Given the description of an element on the screen output the (x, y) to click on. 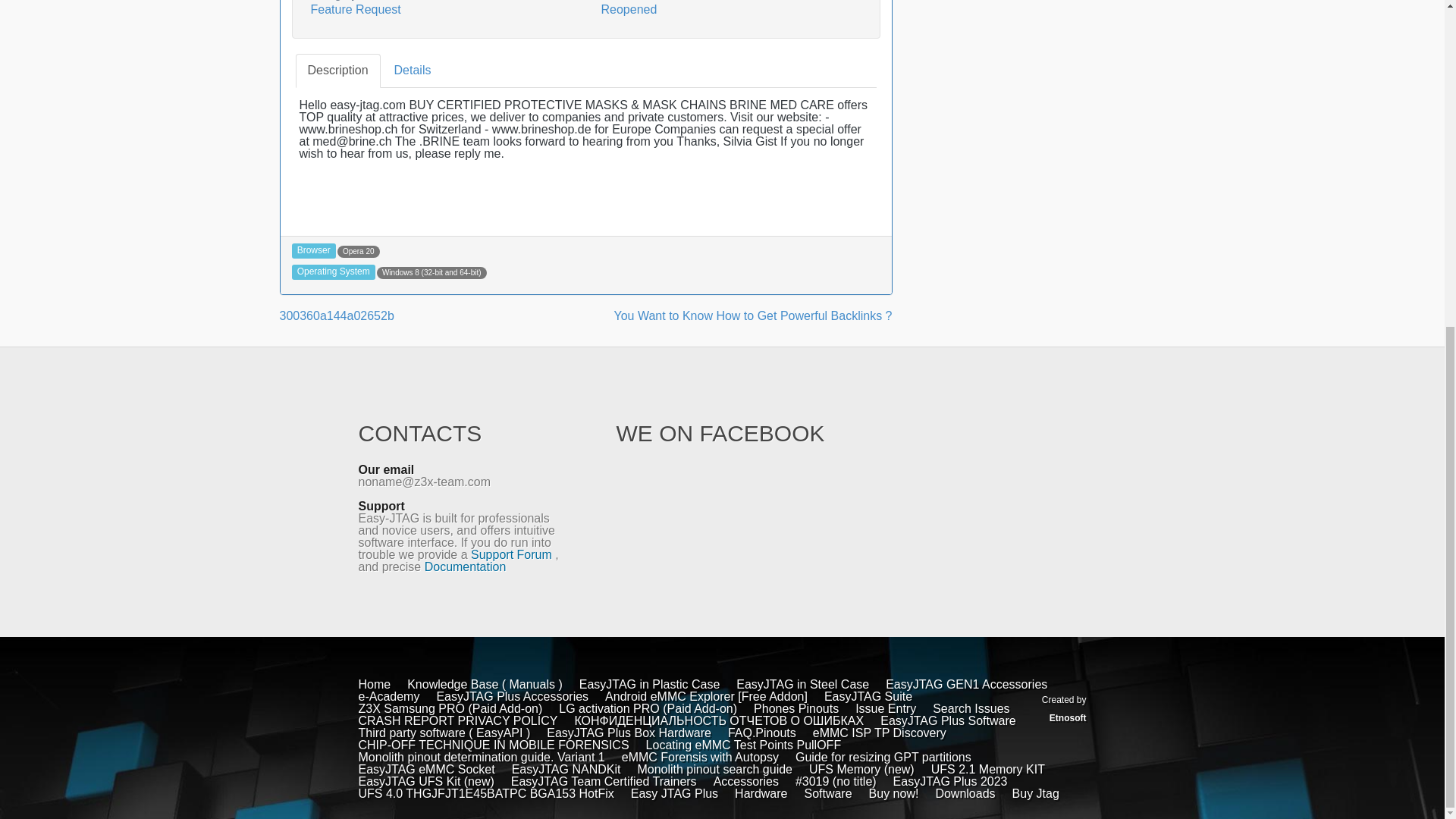
Etnosoft (1067, 717)
